Given the description of an element on the screen output the (x, y) to click on. 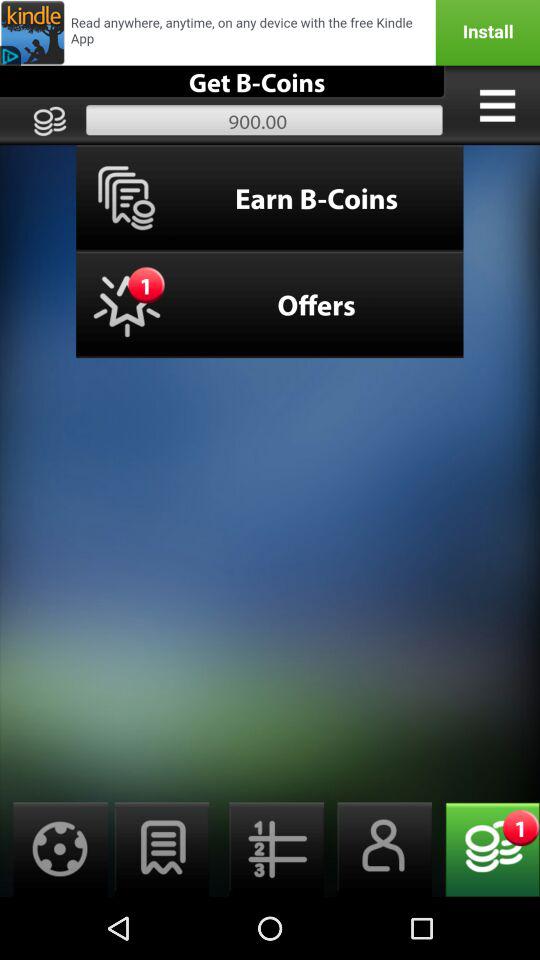
open section (497, 105)
